Given the description of an element on the screen output the (x, y) to click on. 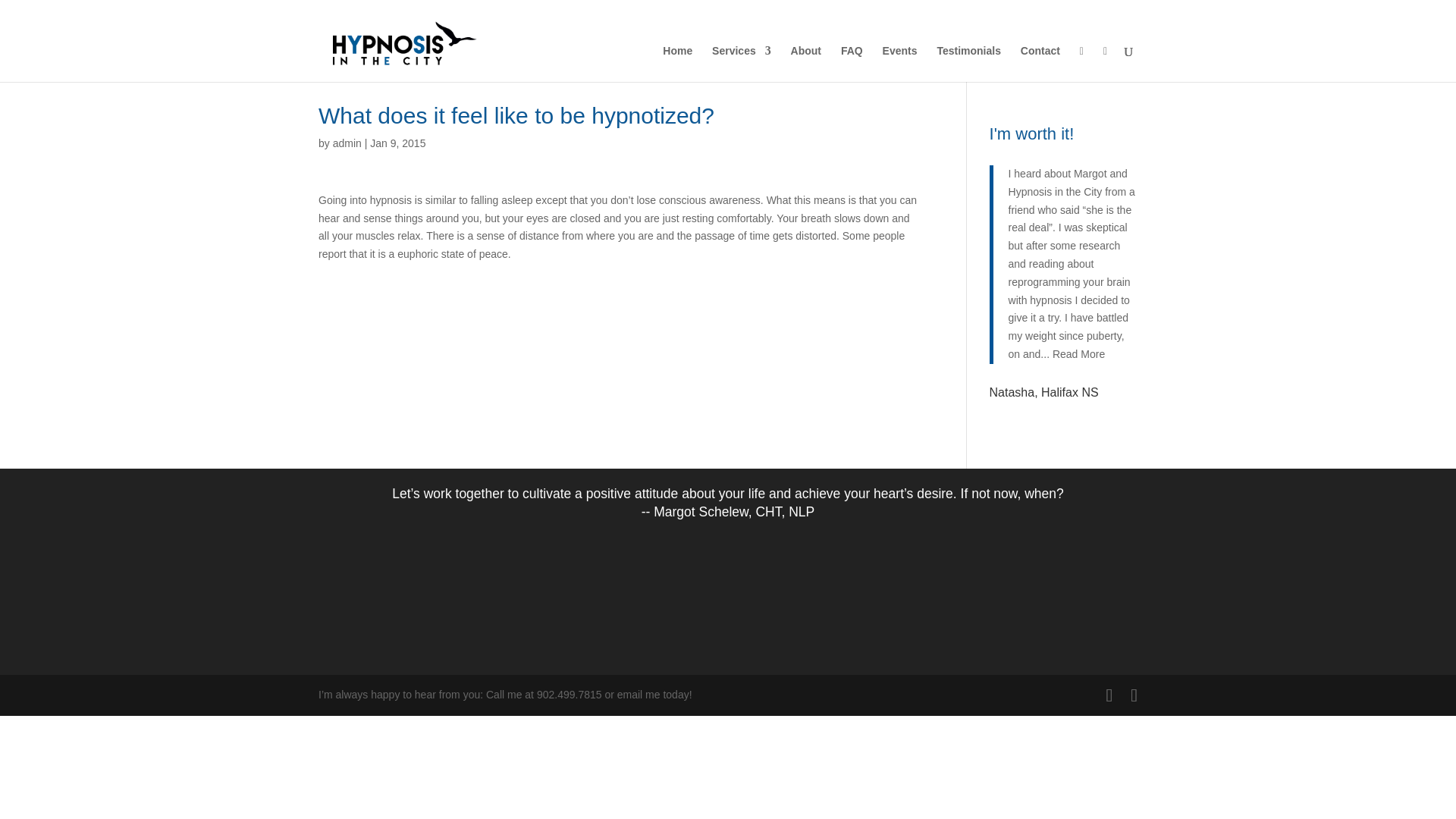
Testimonials (968, 63)
admin (347, 143)
Events (899, 63)
Read More (1078, 354)
Contact (1039, 63)
Services (741, 63)
Posts by admin (347, 143)
